Given the description of an element on the screen output the (x, y) to click on. 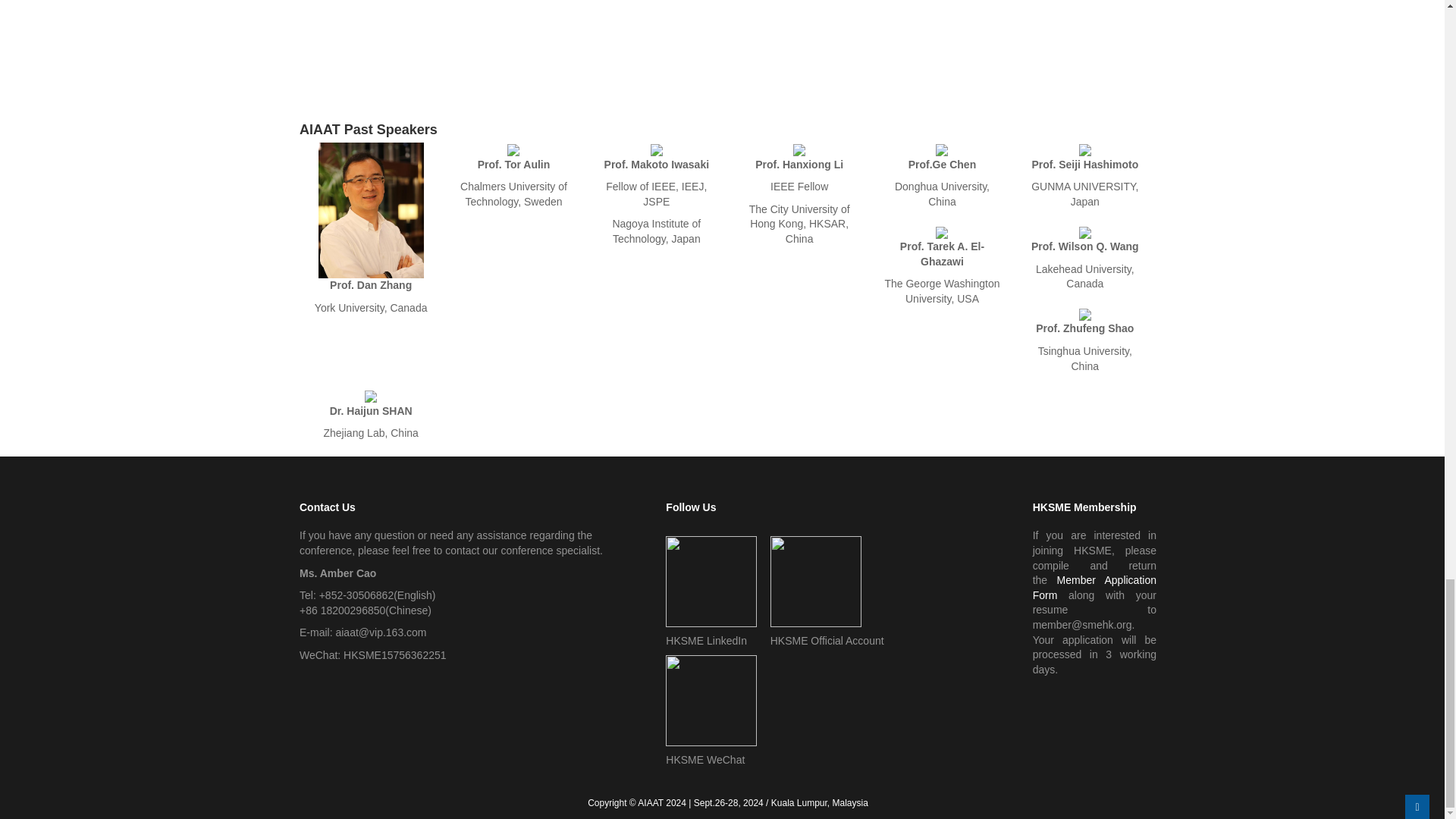
Member Application Form (1094, 587)
